Given the description of an element on the screen output the (x, y) to click on. 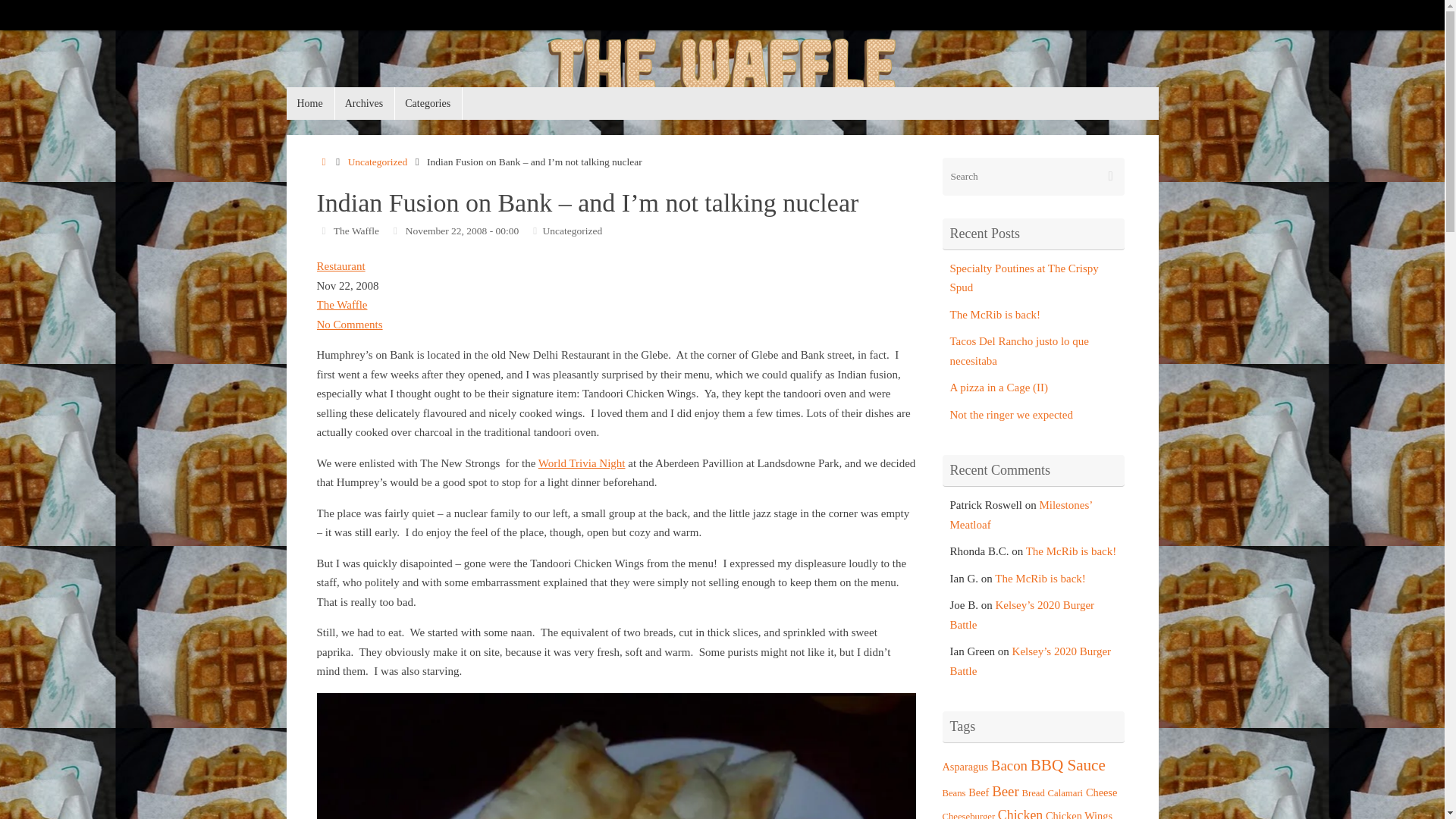
View all posts in Restaurant (341, 265)
Categories (427, 102)
Restaurant (341, 265)
Date (395, 229)
No Comments (349, 324)
World Trivia Night (582, 462)
The Waffle (722, 75)
Uncategorized (377, 161)
November 22, 2008 - 00:00 (462, 229)
The McRib is back! (995, 314)
